Given the description of an element on the screen output the (x, y) to click on. 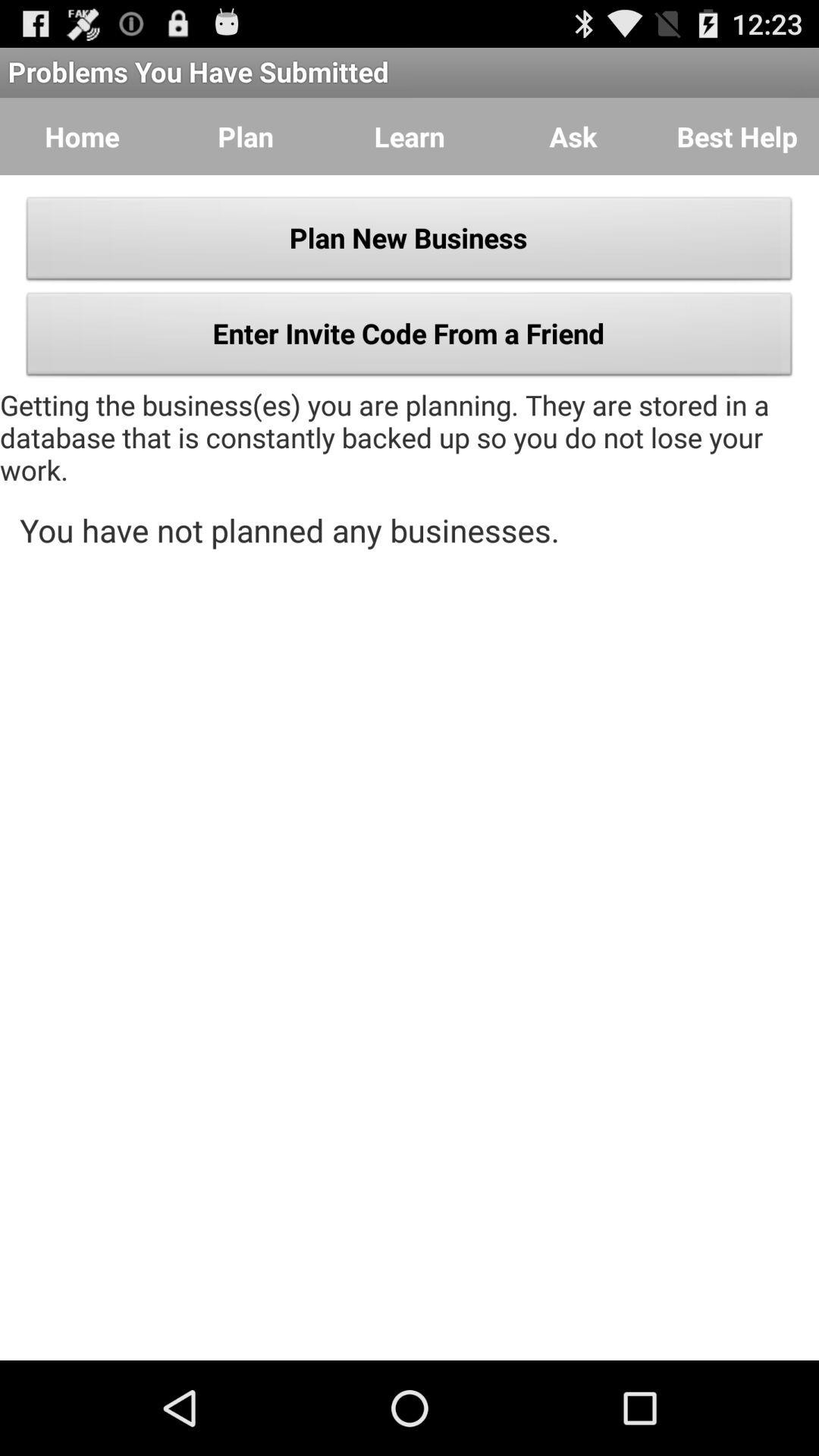
click the icon next to best help item (573, 136)
